Given the description of an element on the screen output the (x, y) to click on. 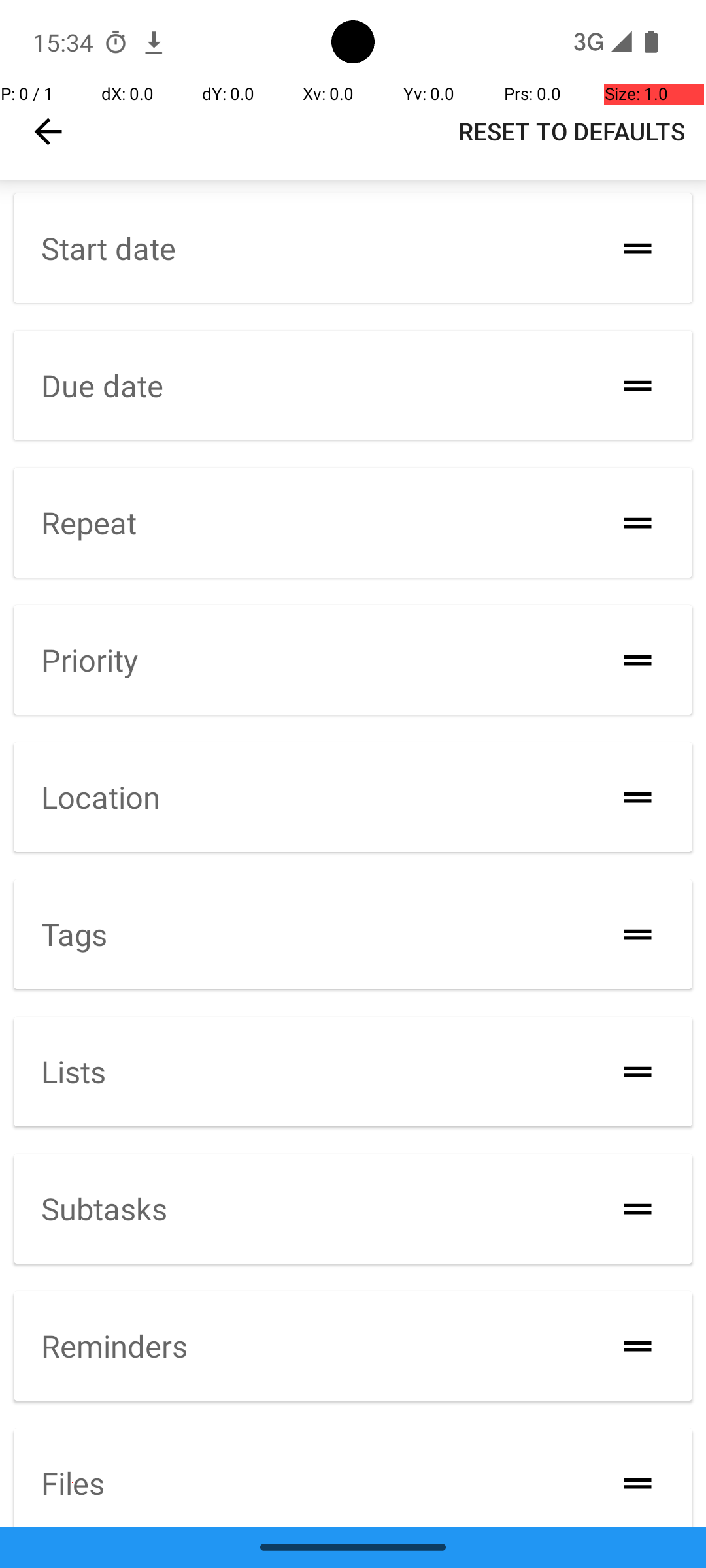
RESET TO DEFAULTS Element type: android.widget.Button (571, 131)
Start date Element type: android.widget.TextView (108, 247)
Lists Element type: android.widget.TextView (73, 1070)
Reminders Element type: android.widget.TextView (114, 1345)
